Given the description of an element on the screen output the (x, y) to click on. 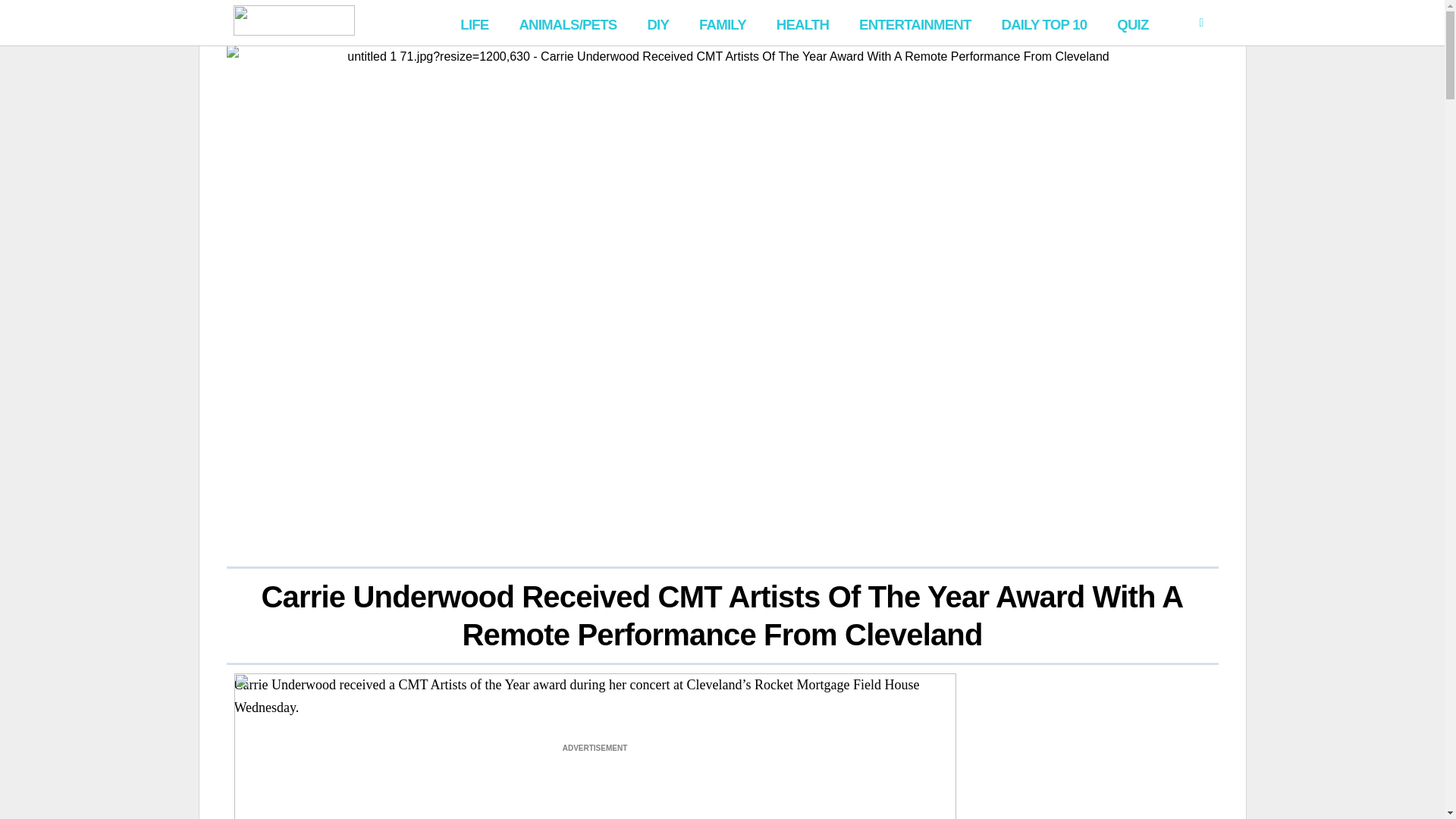
HEALTH (801, 22)
FAMILY (722, 22)
ENTERTAINMENT (914, 22)
DAILY TOP 10 (1043, 22)
LIFE (474, 22)
QUIZ (1132, 22)
